Given the description of an element on the screen output the (x, y) to click on. 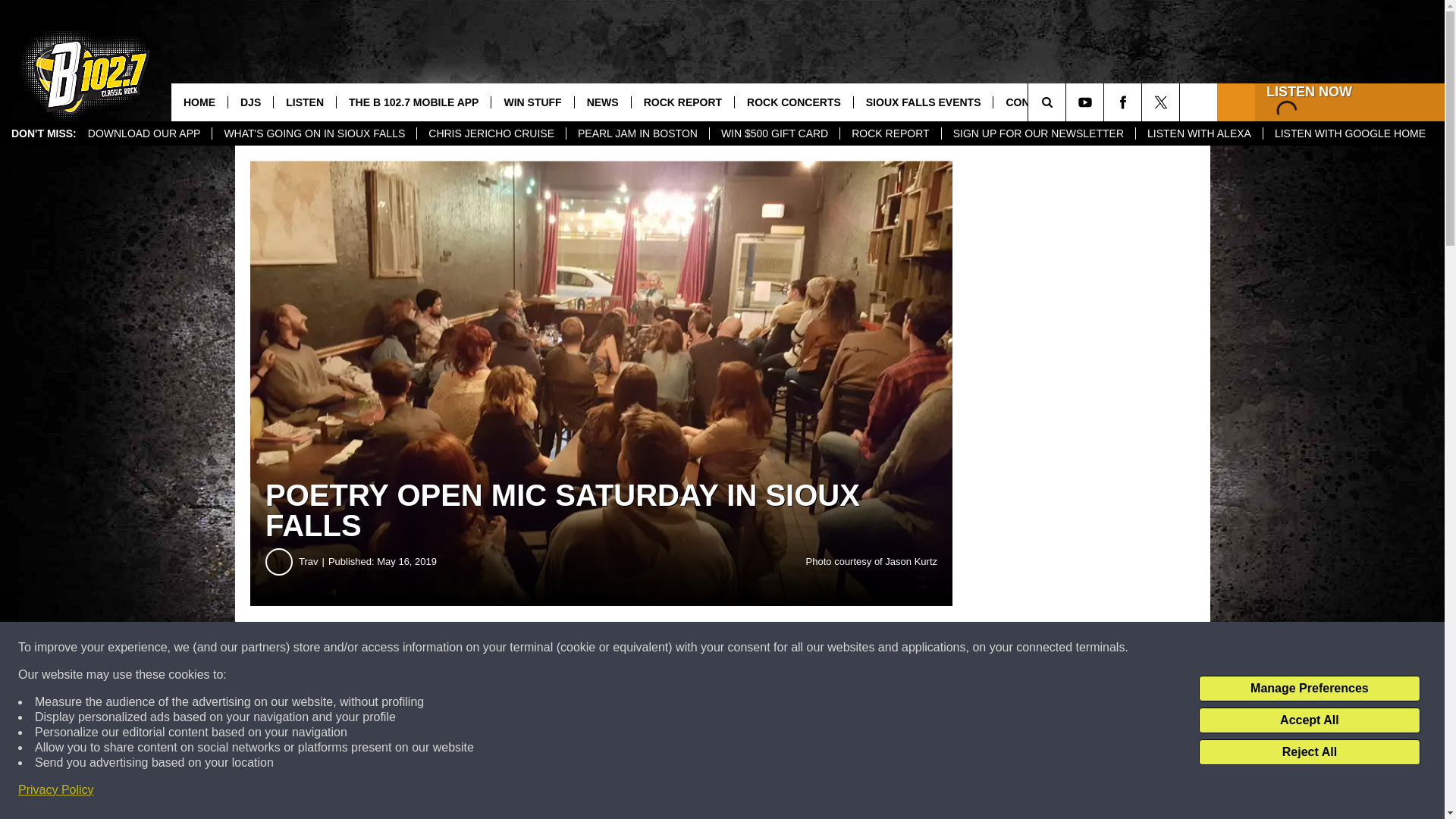
LISTEN (304, 102)
SIGN UP FOR OUR NEWSLETTER (1037, 133)
Privacy Policy (55, 789)
CHRIS JERICHO CRUISE (491, 133)
Reject All (1309, 751)
HOME (199, 102)
Accept All (1309, 720)
Share on Facebook (460, 647)
Manage Preferences (1309, 688)
THE B 102.7 MOBILE APP (413, 102)
